Given the description of an element on the screen output the (x, y) to click on. 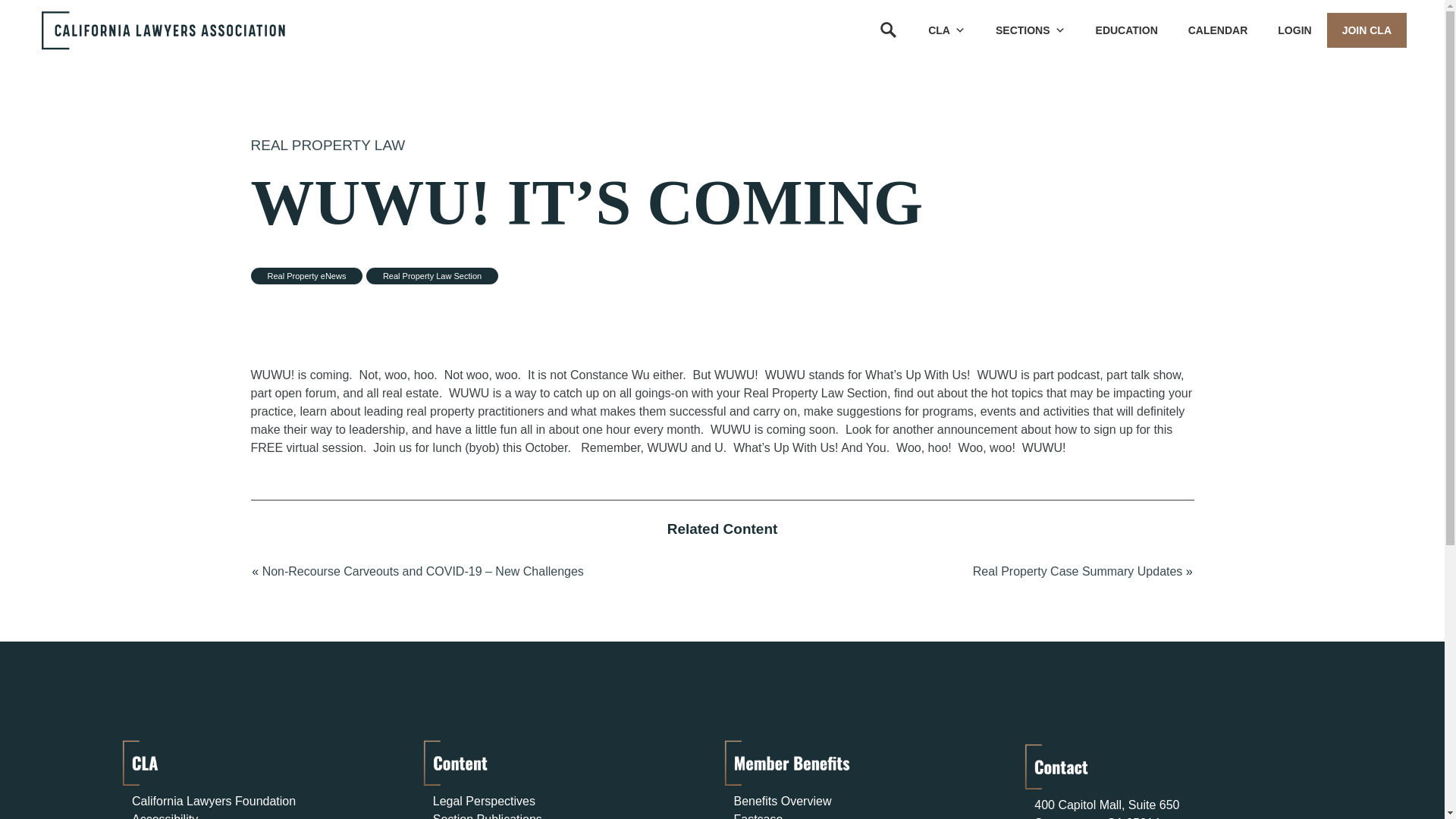
CLA (945, 30)
Real Property Law (327, 145)
SECTIONS (1029, 30)
